Given the description of an element on the screen output the (x, y) to click on. 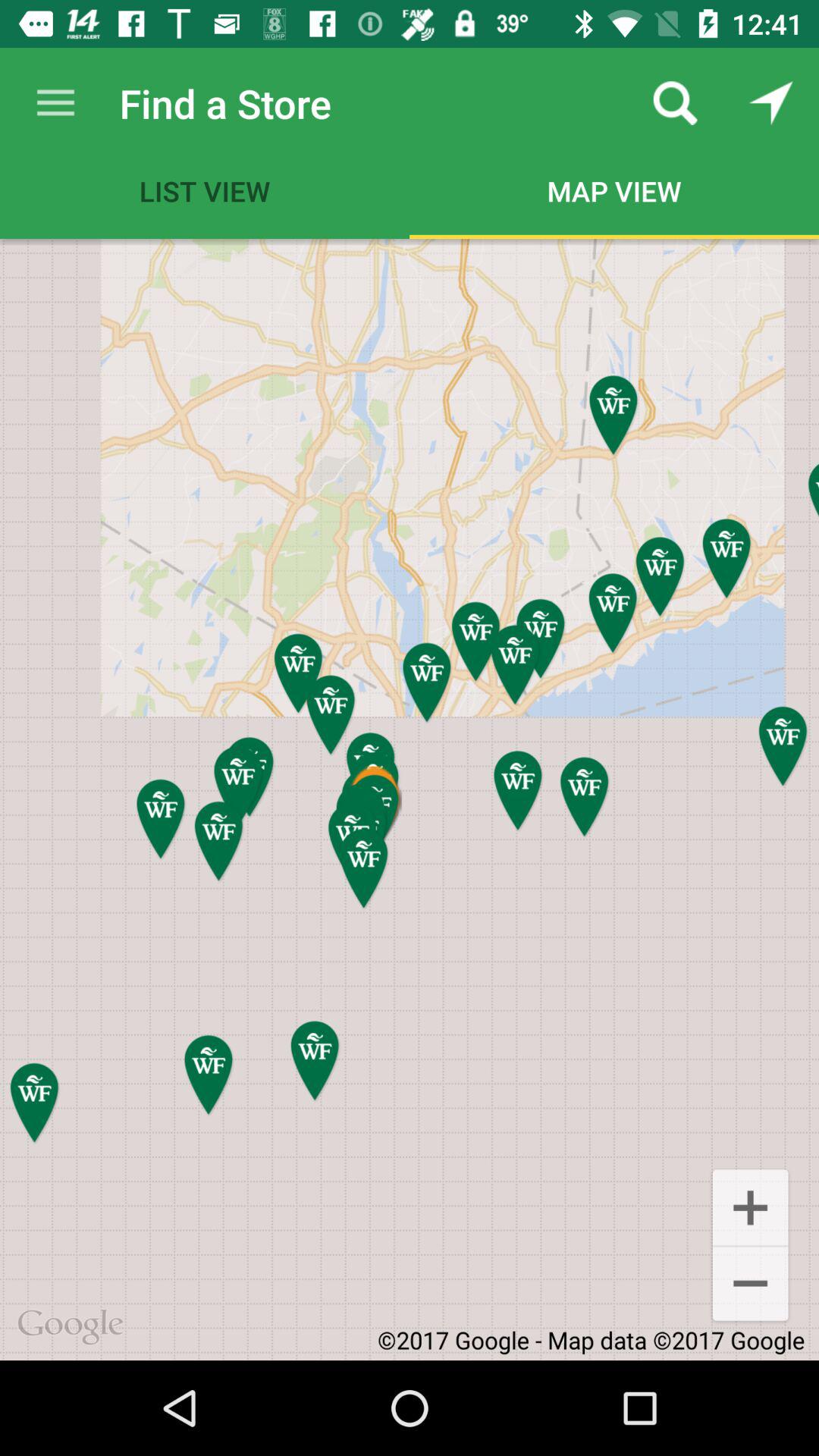
click icon to the left of find a store item (55, 103)
